Given the description of an element on the screen output the (x, y) to click on. 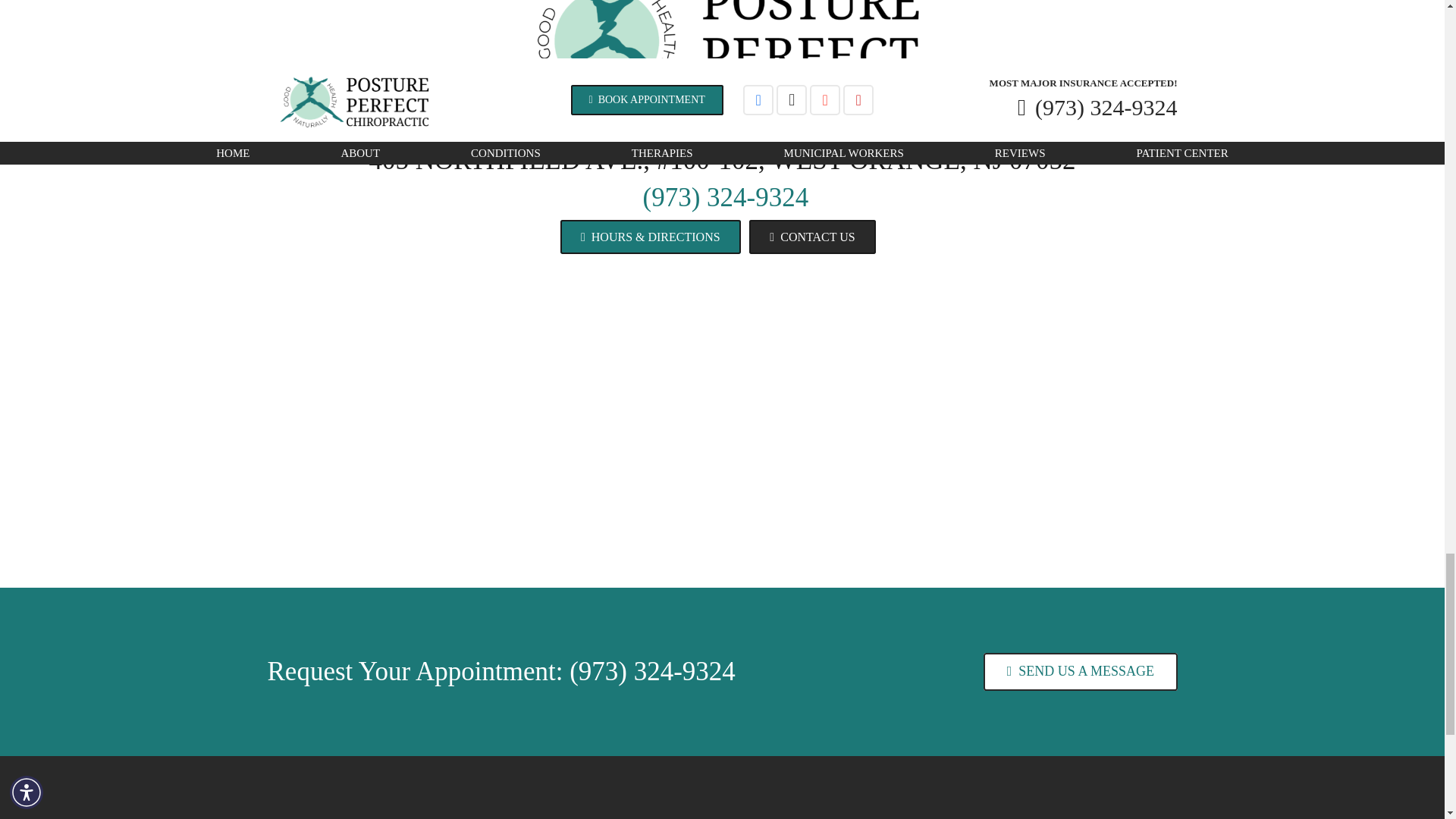
Office Hours and Directions (650, 236)
Contact Us (1080, 671)
Contact Us (812, 236)
